Given the description of an element on the screen output the (x, y) to click on. 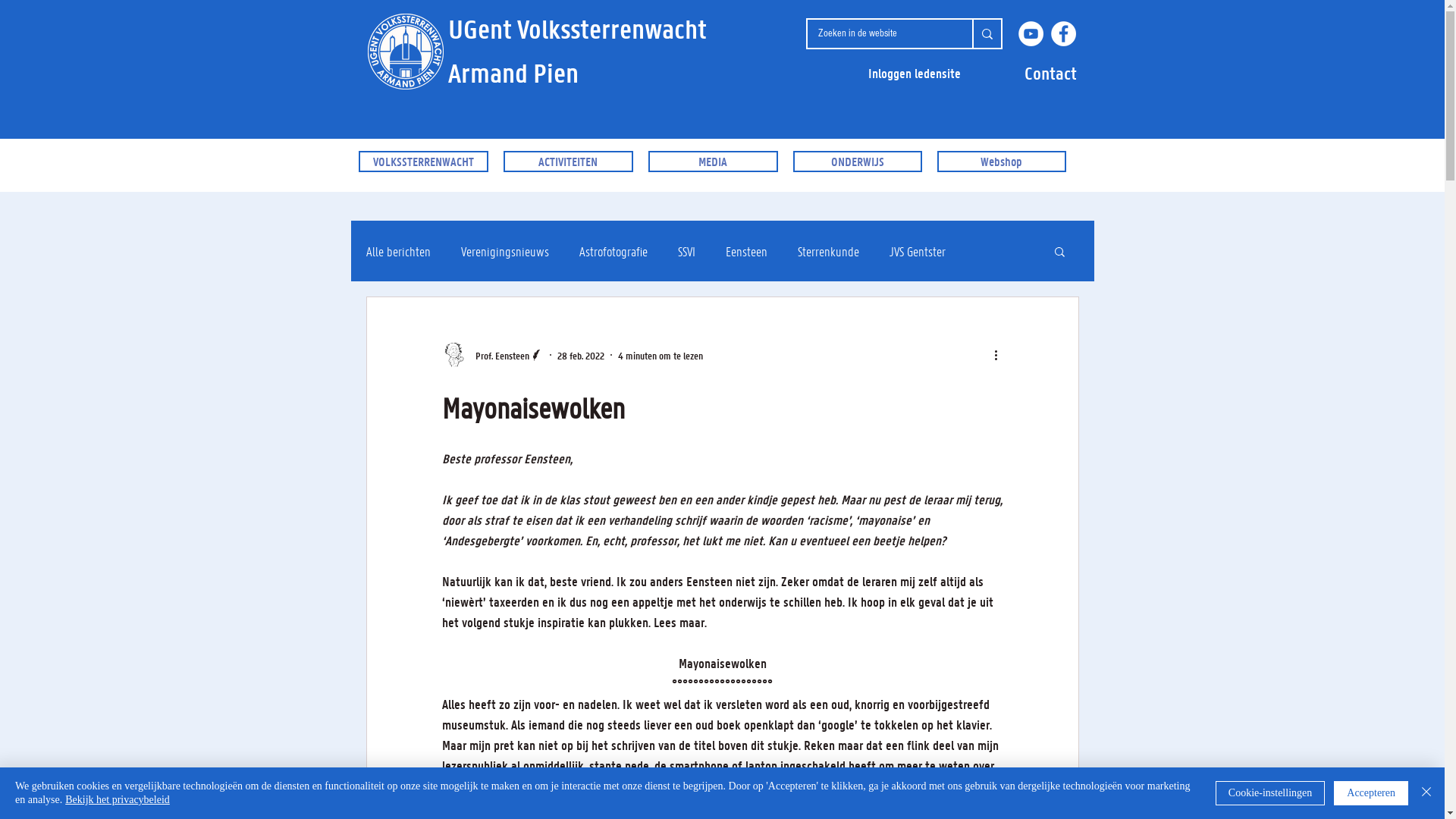
UGent Volkssterrenwacht Armand Pien Element type: text (576, 50)
Contact Element type: text (1049, 72)
MEDIA Element type: text (712, 161)
Astrofotografie Element type: text (613, 250)
SSVI Element type: text (686, 250)
Verenigingsnieuws Element type: text (505, 250)
Inloggen ledensite Element type: text (913, 73)
JVS Gentster Element type: text (916, 250)
Sterrenkunde Element type: text (828, 250)
Prof. Eensteen Element type: text (491, 354)
Alle berichten Element type: text (397, 250)
Eensteen Element type: text (745, 250)
Webshop Element type: text (1001, 161)
